Given the description of an element on the screen output the (x, y) to click on. 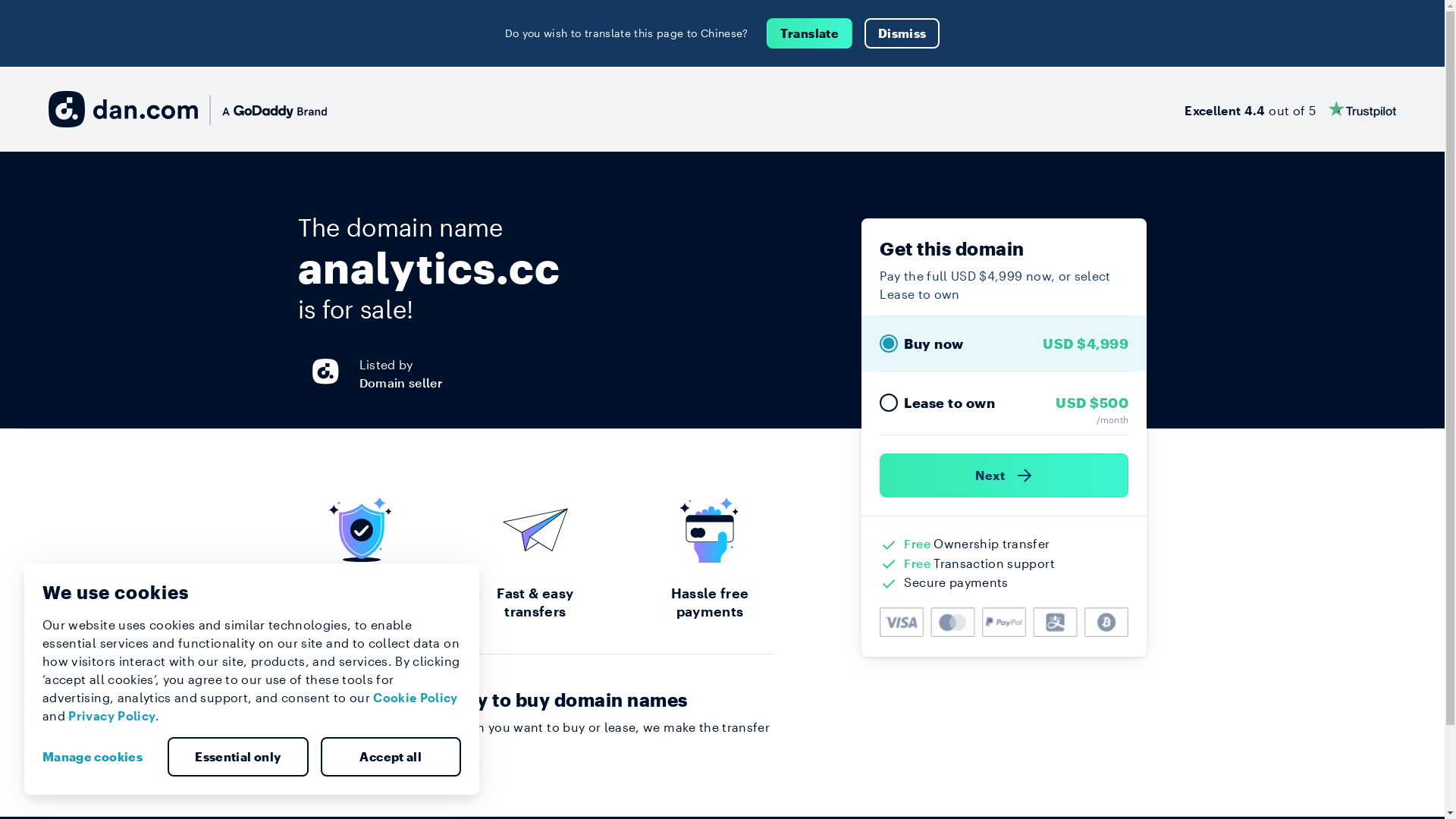
Privacy Policy Element type: text (111, 715)
Translate Element type: text (809, 33)
Essential only Element type: text (237, 756)
Accept all Element type: text (390, 756)
Manage cookies Element type: text (98, 756)
Next
) Element type: text (1003, 475)
Excellent 4.4 out of 5 Element type: text (1290, 109)
Cookie Policy Element type: text (415, 697)
Dismiss Element type: text (901, 33)
